Given the description of an element on the screen output the (x, y) to click on. 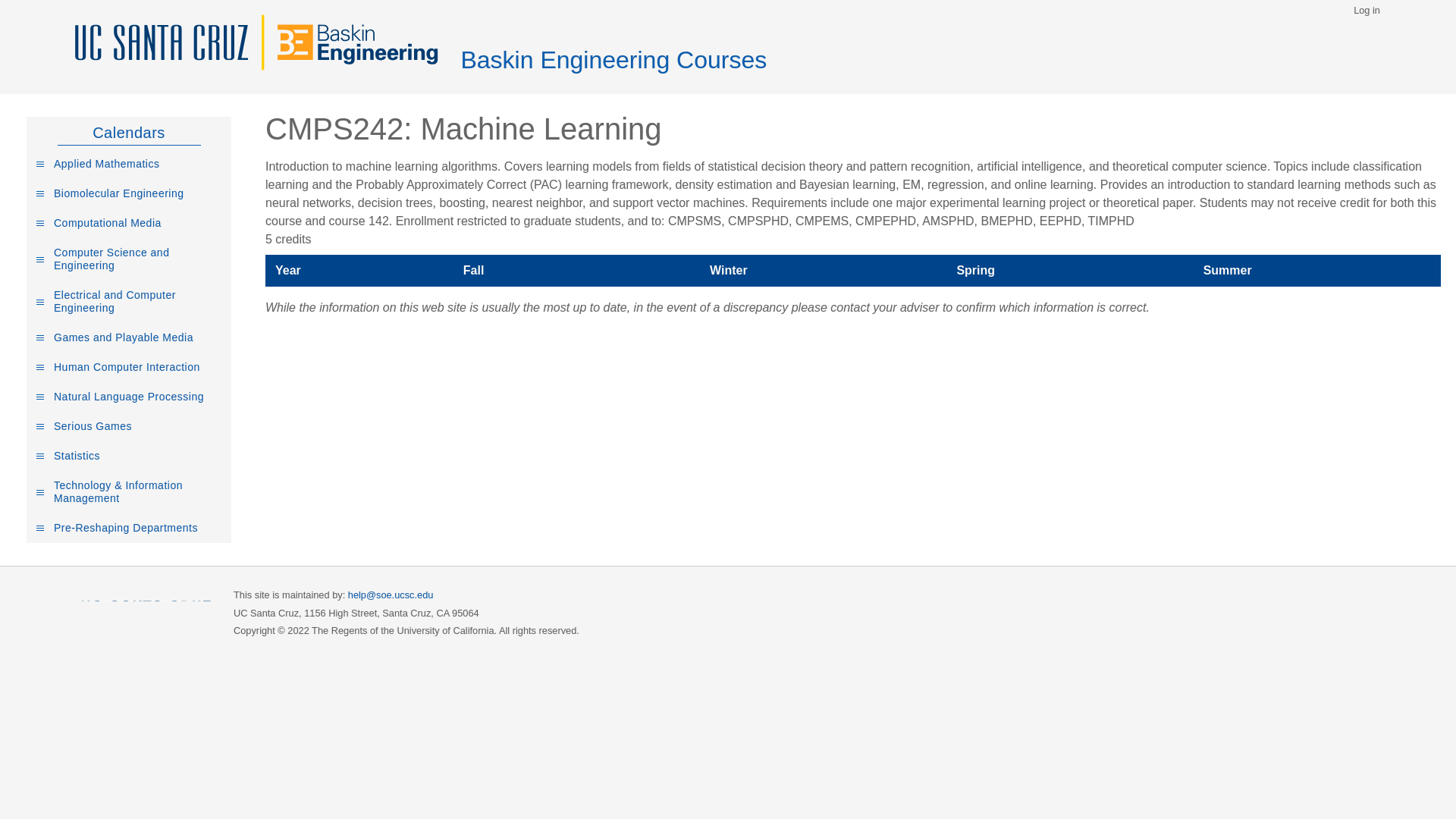
Computer Science and Engineering (128, 259)
Serious Games (128, 426)
Biomolecular Engineering (128, 193)
Log in (1367, 10)
Applied Mathematics (128, 164)
Pre-Reshaping Departments (128, 527)
Statistics (128, 455)
Natural Language Processing (128, 396)
Computational Media (128, 223)
